Given the description of an element on the screen output the (x, y) to click on. 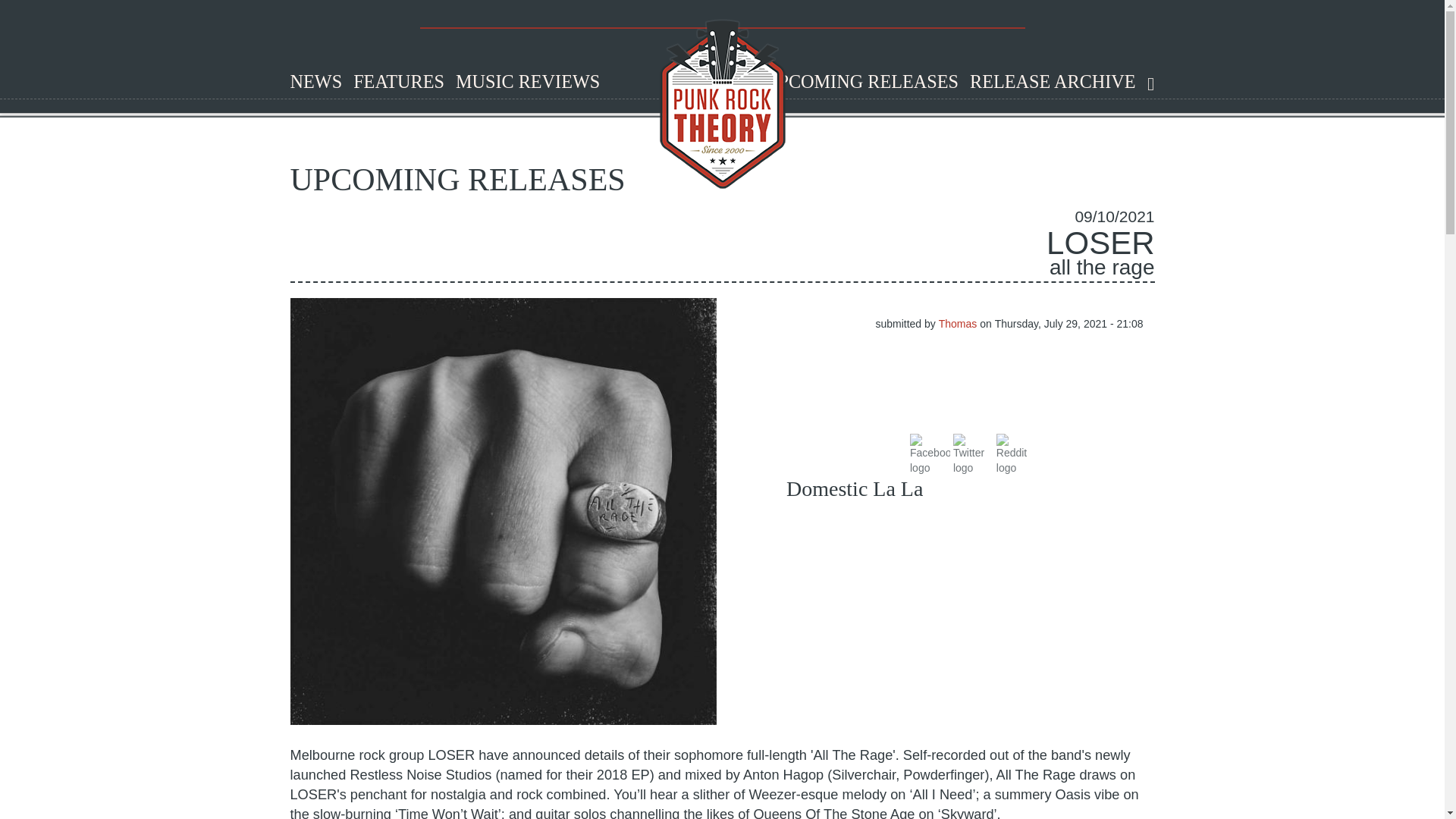
Share on Facebook (930, 452)
MUSIC REVIEWS (521, 81)
Submit this post on reddit.com (1015, 452)
NEWS (310, 81)
UPCOMING RELEASES (856, 81)
FEATURES (393, 81)
Share this on Twitter (972, 452)
Domestic La La (854, 488)
